Given the description of an element on the screen output the (x, y) to click on. 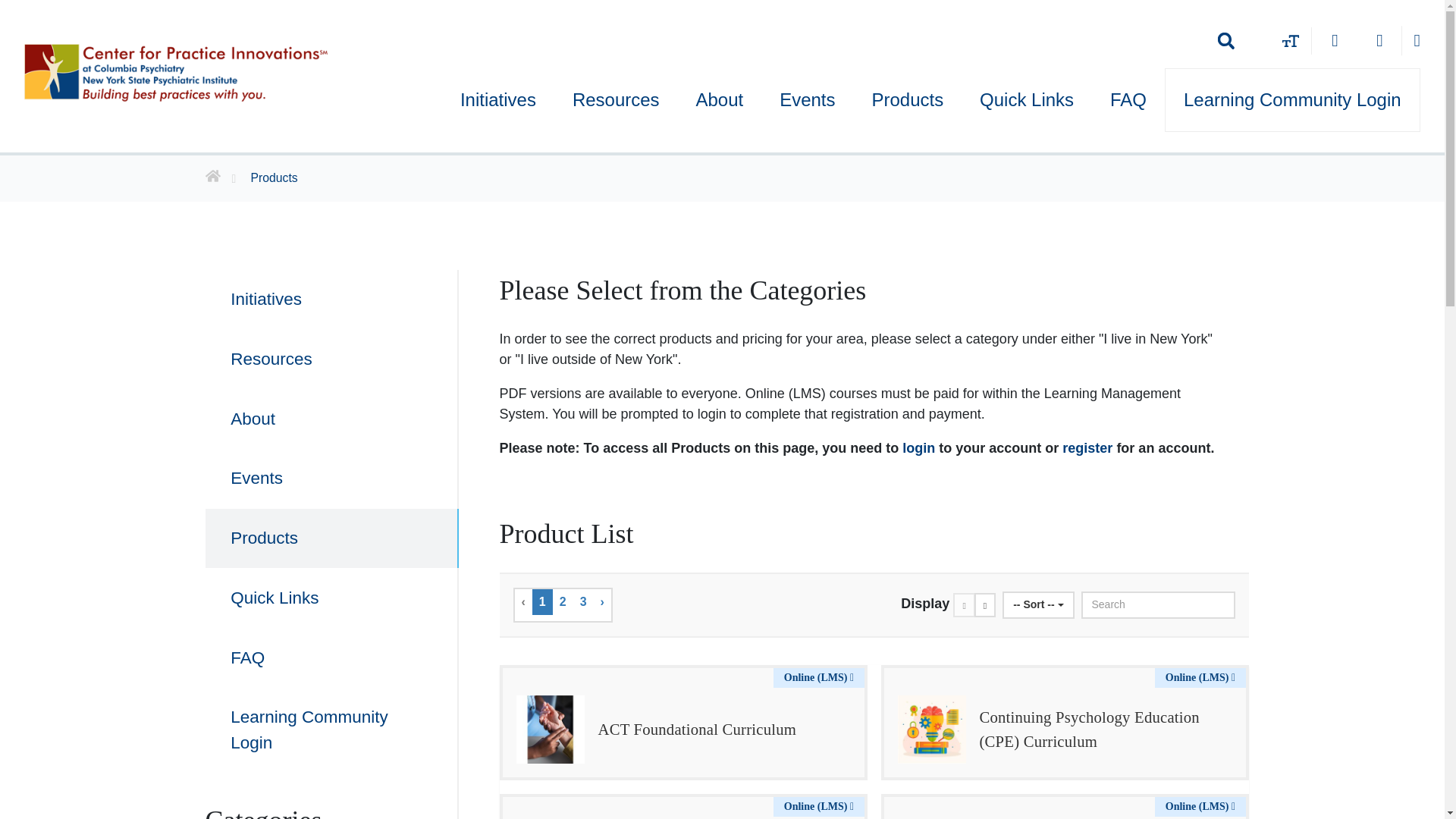
Register (1334, 40)
Initiatives (498, 99)
Register (1334, 40)
Center for Practice Innovations (175, 71)
Back to home page (224, 178)
